Given the description of an element on the screen output the (x, y) to click on. 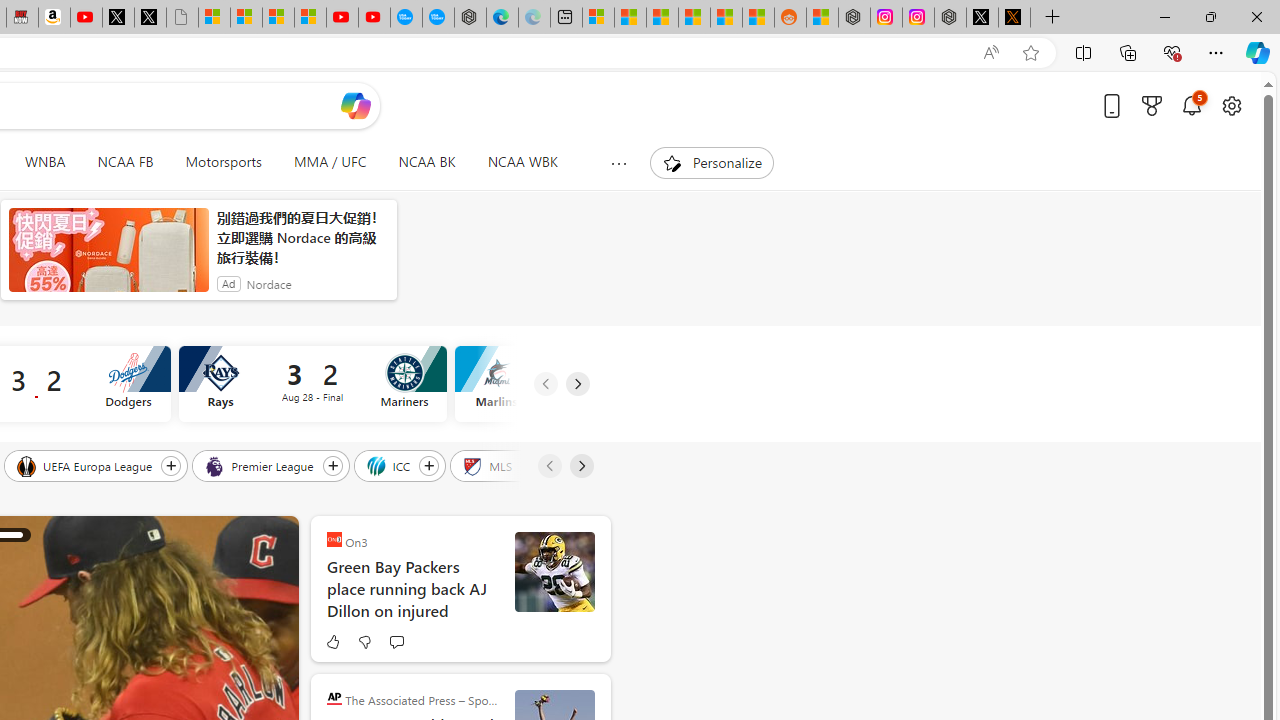
WNBA (44, 162)
Open settings (1231, 105)
NCAA WBK (522, 162)
anim-content (107, 258)
Shanghai, China hourly forecast | Microsoft Weather (662, 17)
Premier League (260, 465)
ICC (390, 465)
